Given the description of an element on the screen output the (x, y) to click on. 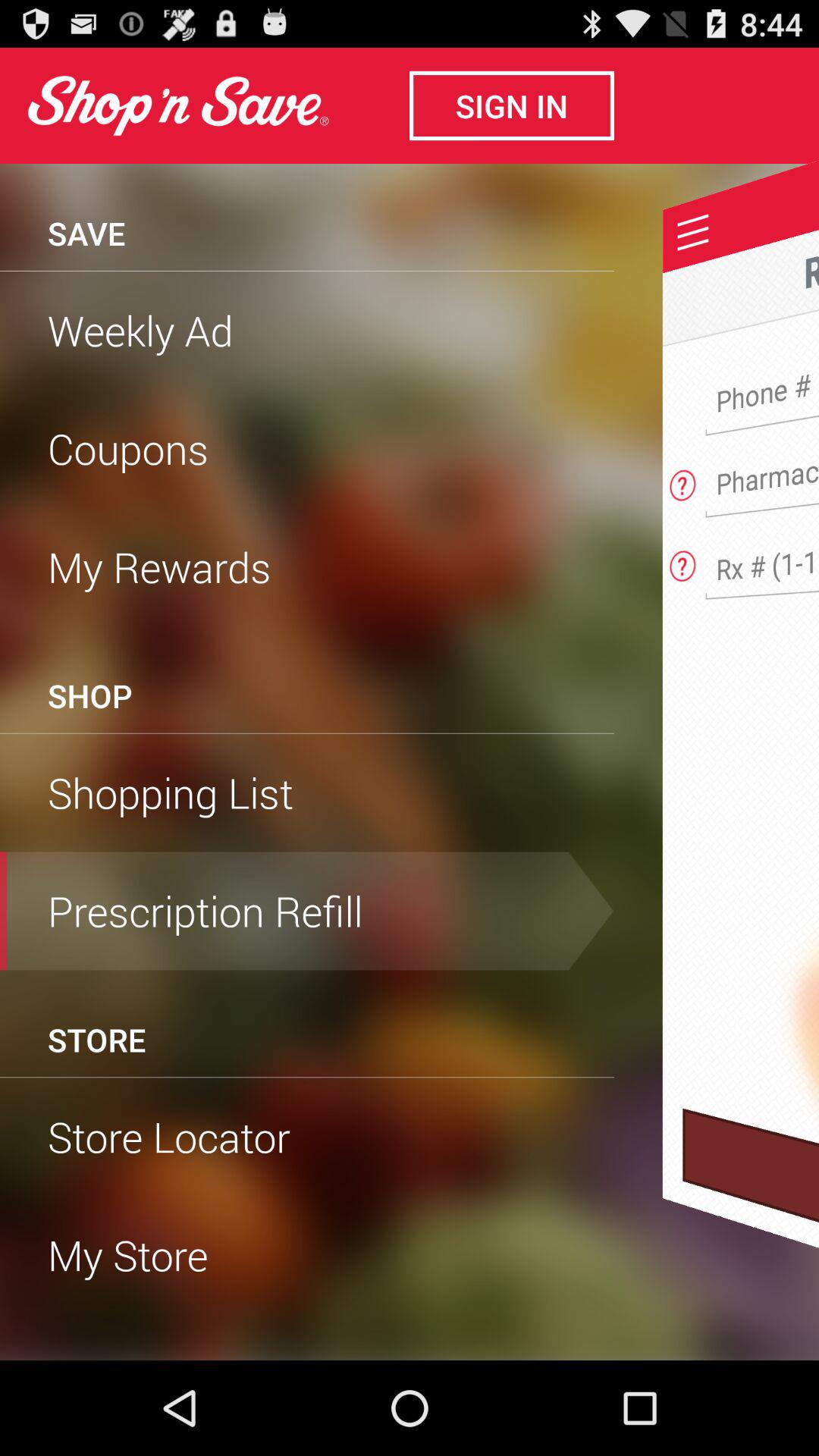
turn on item below the store icon (307, 1077)
